Given the description of an element on the screen output the (x, y) to click on. 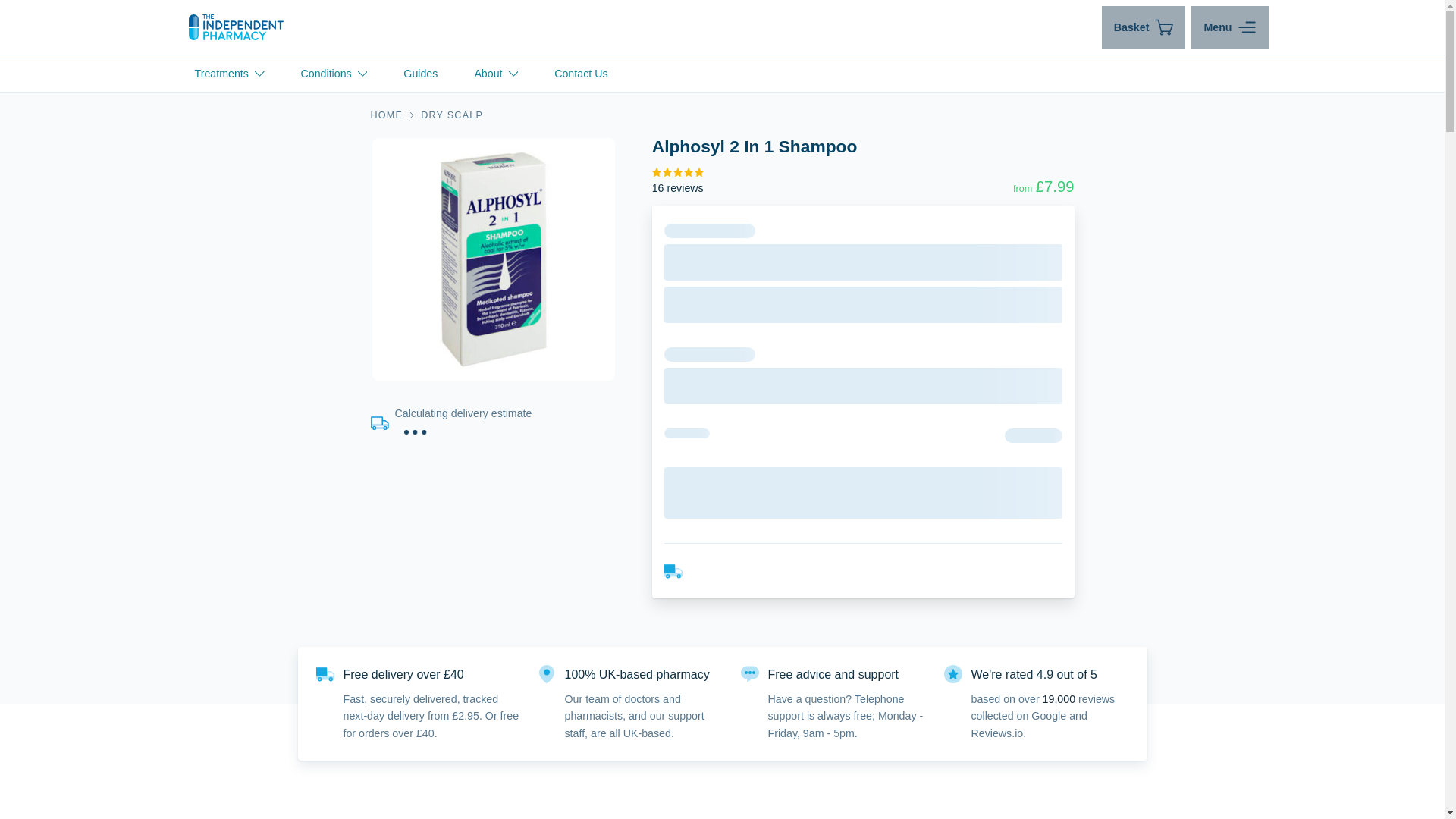
Menu (1229, 26)
Open your basket (1144, 26)
Open the main menu (1229, 26)
Basket (1144, 26)
The Independent Pharmacy homepage (234, 27)
Treatments (229, 73)
